Given the description of an element on the screen output the (x, y) to click on. 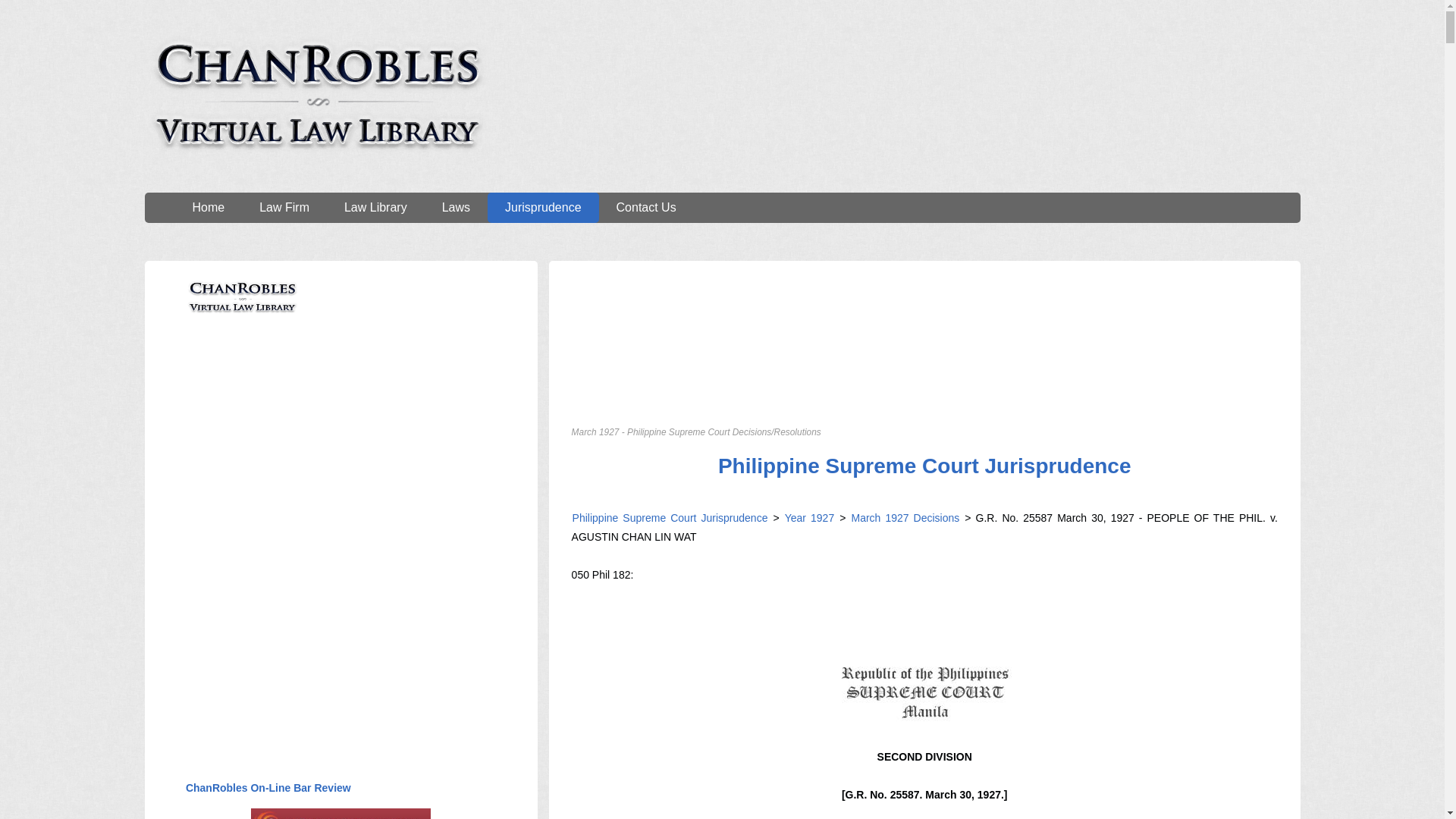
Philippine Supreme Court Jurisprudence (924, 465)
Laws (456, 207)
Advertisement (298, 452)
March 1927 Decisions (902, 517)
Home (207, 207)
Advertisement (298, 647)
Law Library (375, 207)
Year 1927 (809, 517)
Law Firm (283, 207)
ChanRobles On-Line Bar Review (268, 787)
Philippine Supreme Court Jurisprudence (670, 517)
Jurisprudence (542, 207)
Contact Us (646, 207)
